Given the description of an element on the screen output the (x, y) to click on. 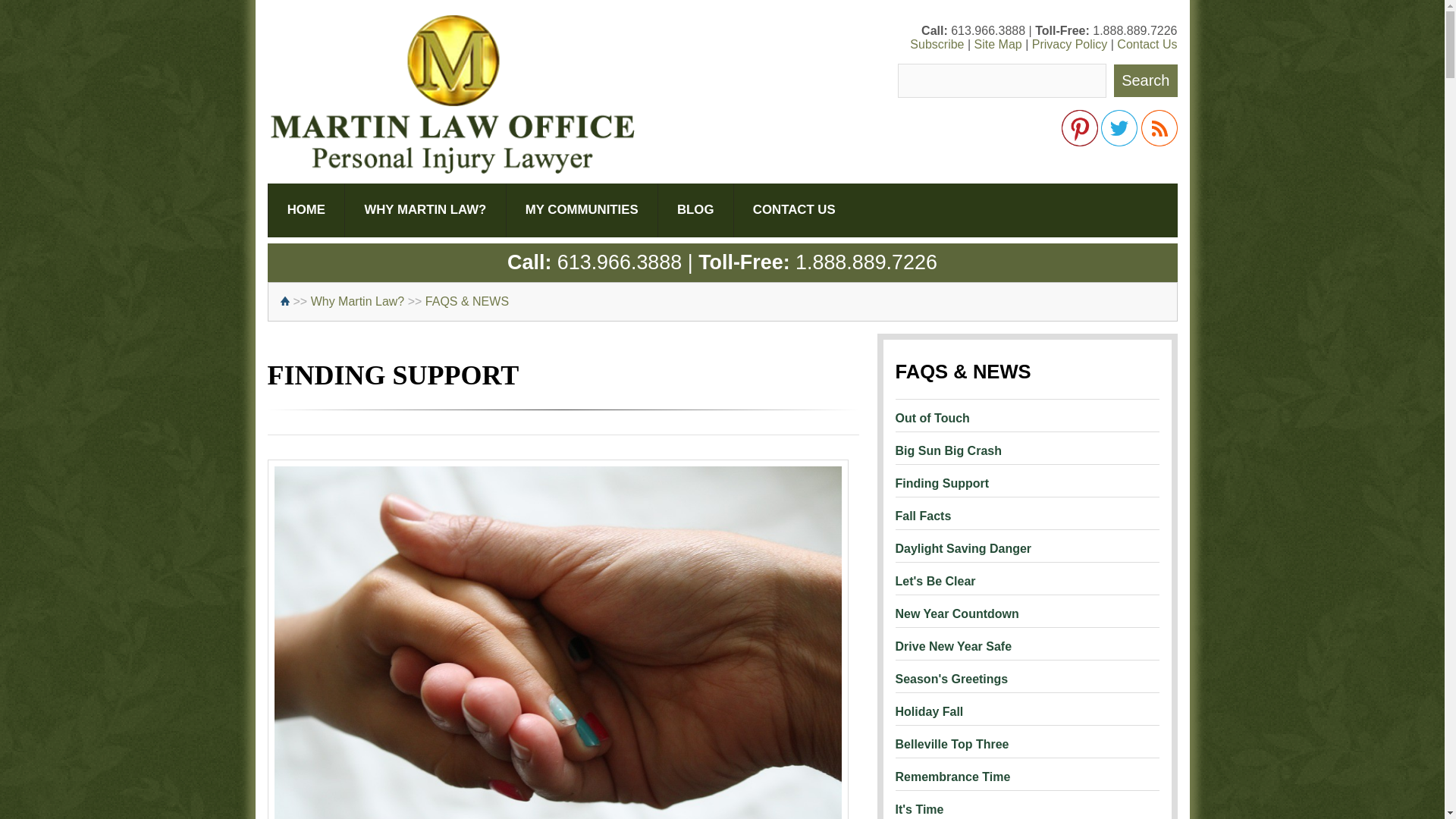
Subscribe (936, 43)
Search (1144, 80)
HOME (304, 209)
Out of Touch (1026, 411)
home (287, 300)
Privacy Policy (1070, 43)
BLOG (695, 209)
Contact Us (1146, 43)
Search (1144, 80)
Seach (1002, 80)
Site Map (998, 43)
WHY MARTIN LAW? (424, 209)
MY COMMUNITIES (581, 209)
Why Martin Law? (357, 300)
CONTACT US (793, 209)
